Given the description of an element on the screen output the (x, y) to click on. 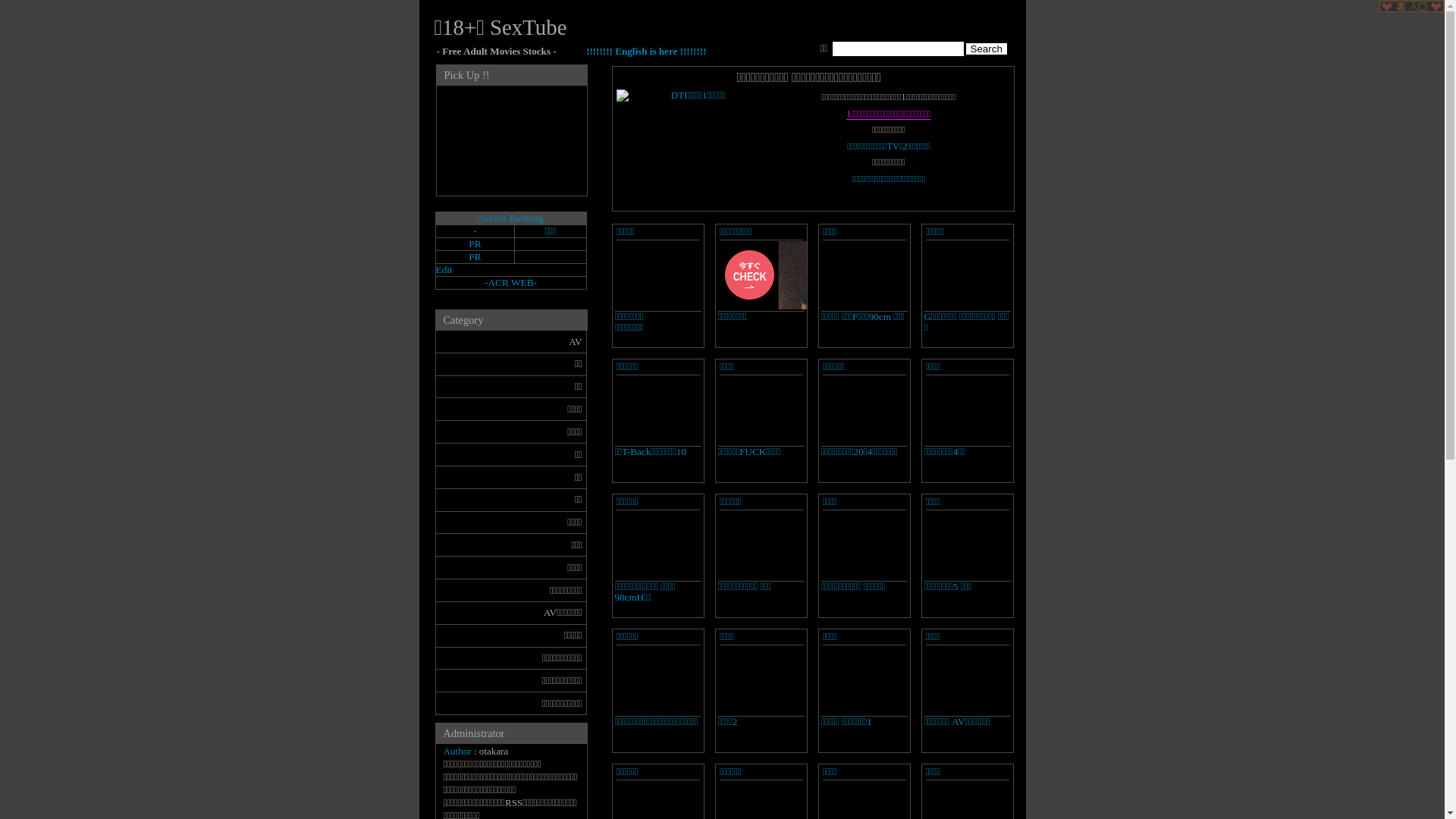
Edit Element type: text (443, 269)
 Search  Element type: text (986, 48)
AV Element type: text (510, 341)
Author Element type: text (456, 750)
ACR WEB Element type: text (510, 282)
!!!!!!!! English is here !!!!!!!! Element type: text (646, 50)
